Given the description of an element on the screen output the (x, y) to click on. 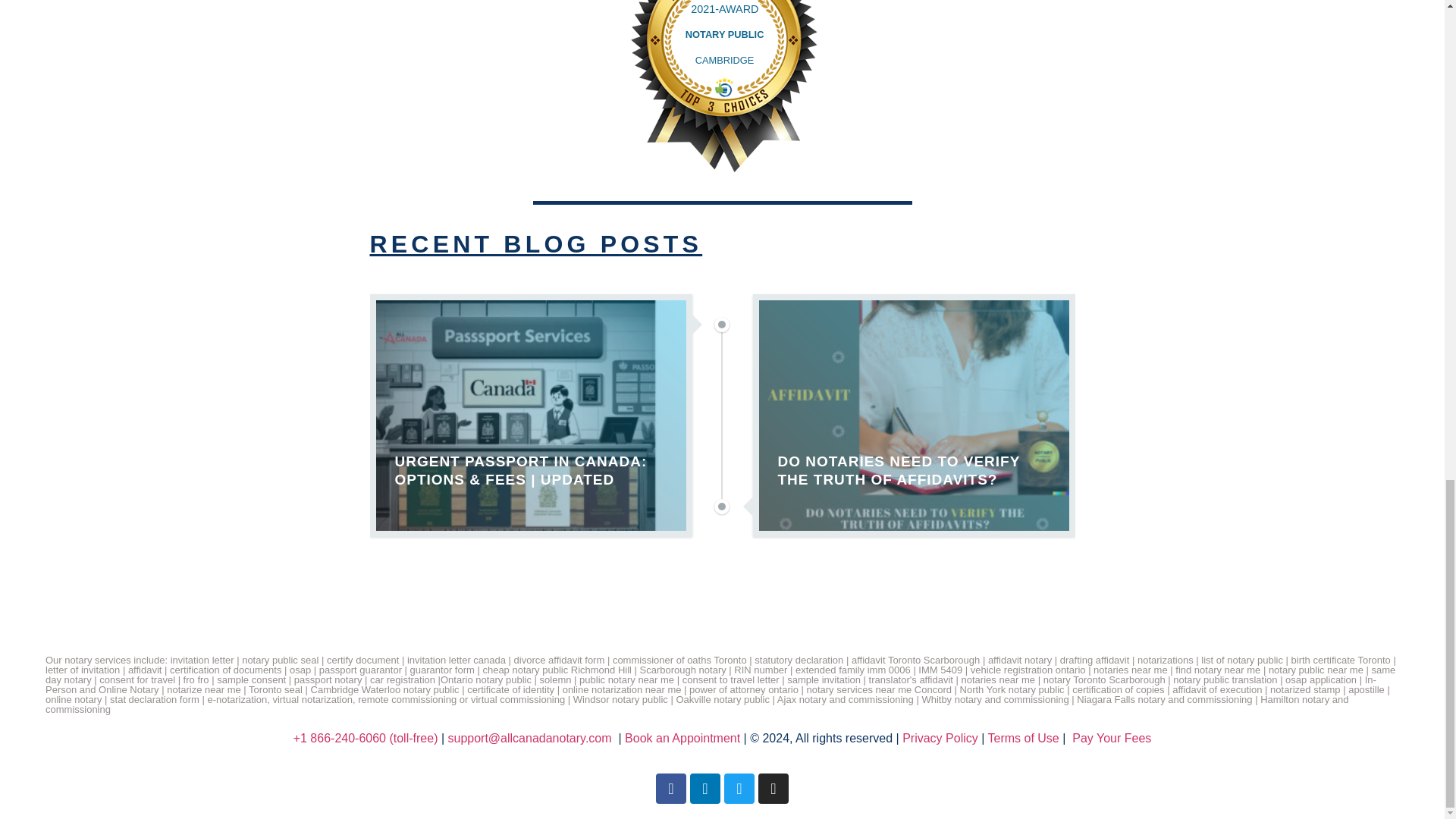
Pay Your Fees (1111, 738)
Terms of Use (1022, 738)
Privacy Policy (940, 738)
Do Notaries Need to Verify the Truth of Affidavits? (913, 415)
Book an Appointment (681, 738)
DO NOTARIES NEED TO VERIFY THE TRUTH OF AFFIDAVITS? (913, 415)
